Given the description of an element on the screen output the (x, y) to click on. 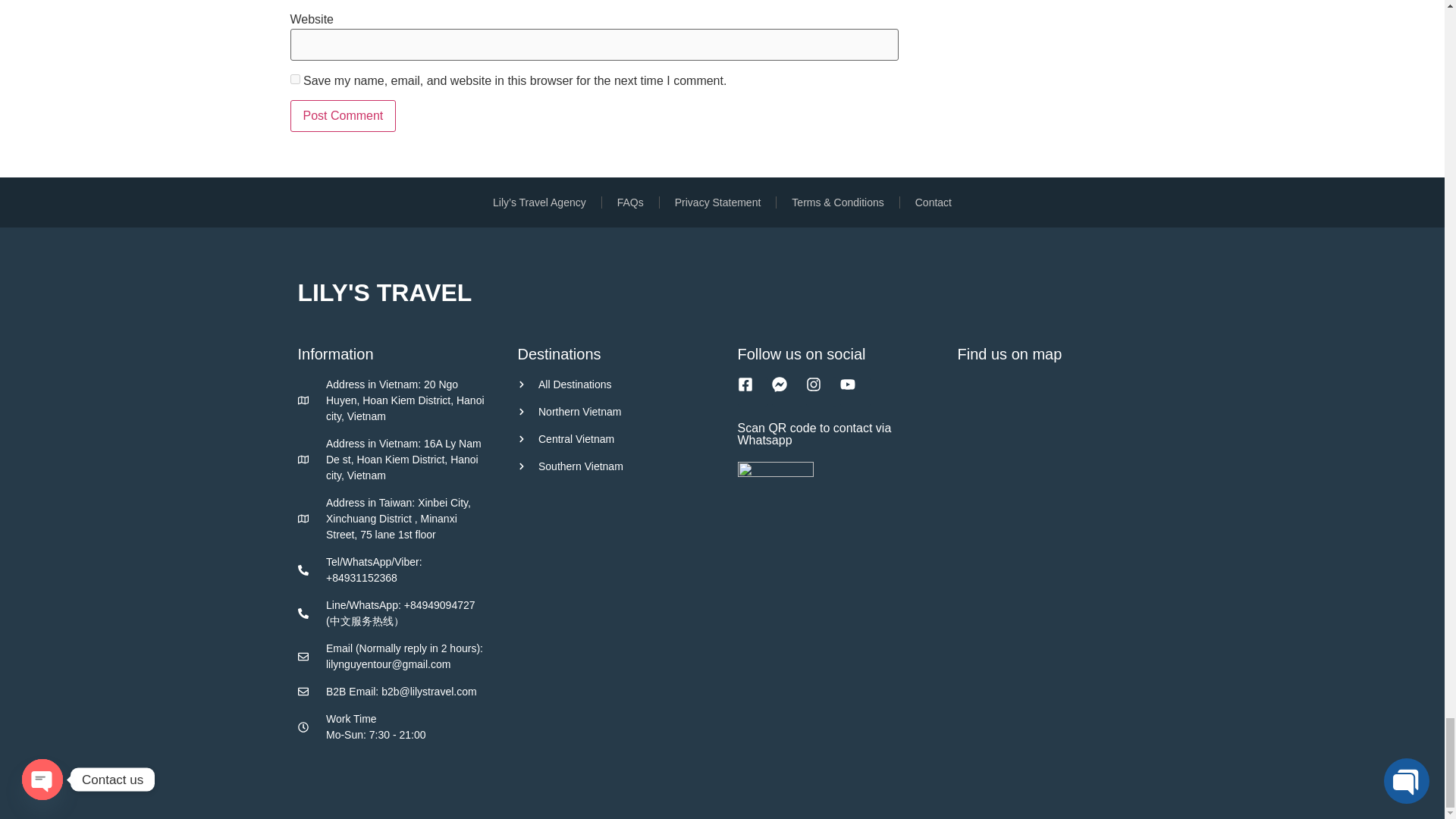
yes (294, 79)
Post Comment (342, 115)
